Given the description of an element on the screen output the (x, y) to click on. 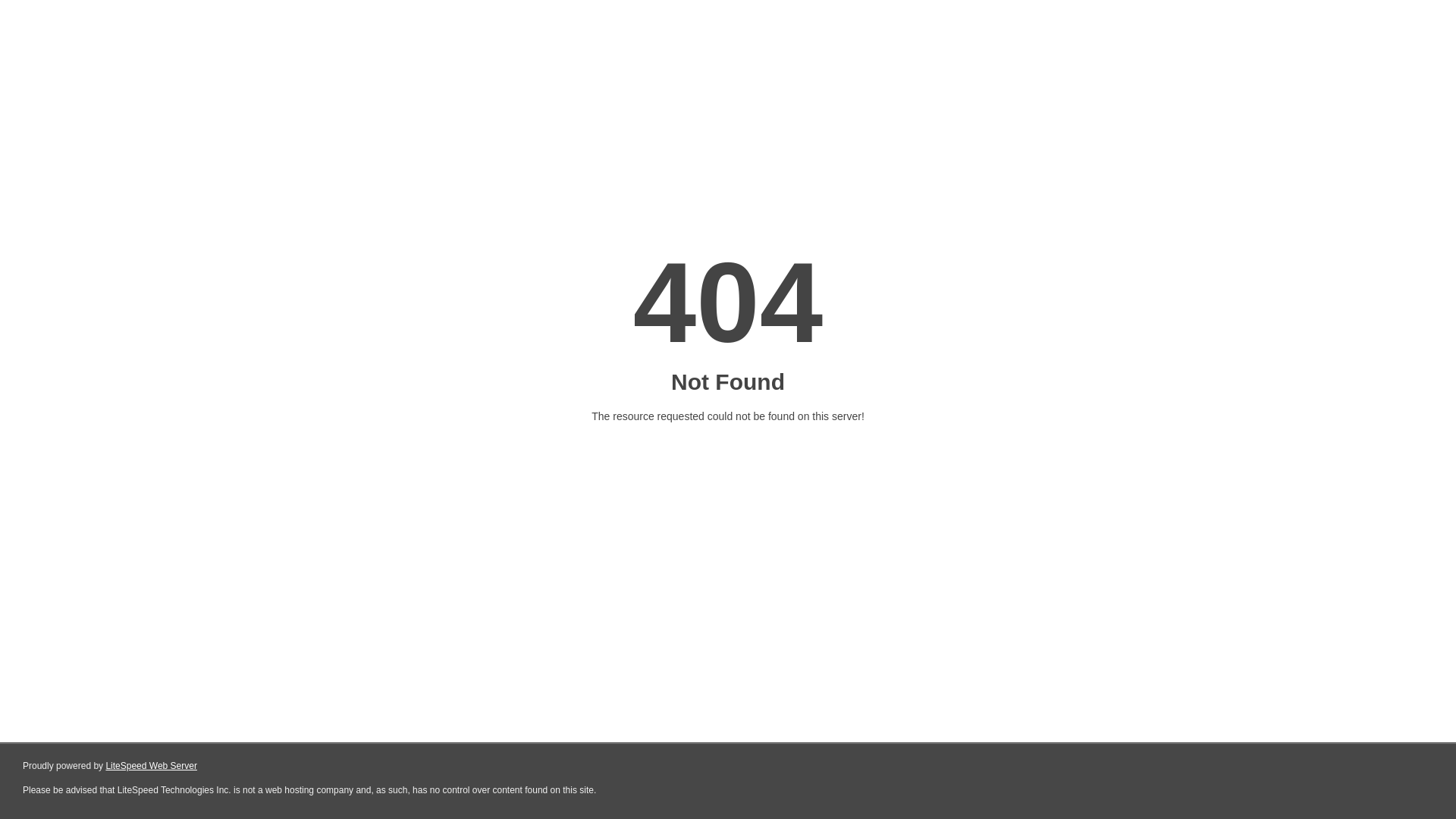
LiteSpeed Web Server Element type: text (151, 765)
